Given the description of an element on the screen output the (x, y) to click on. 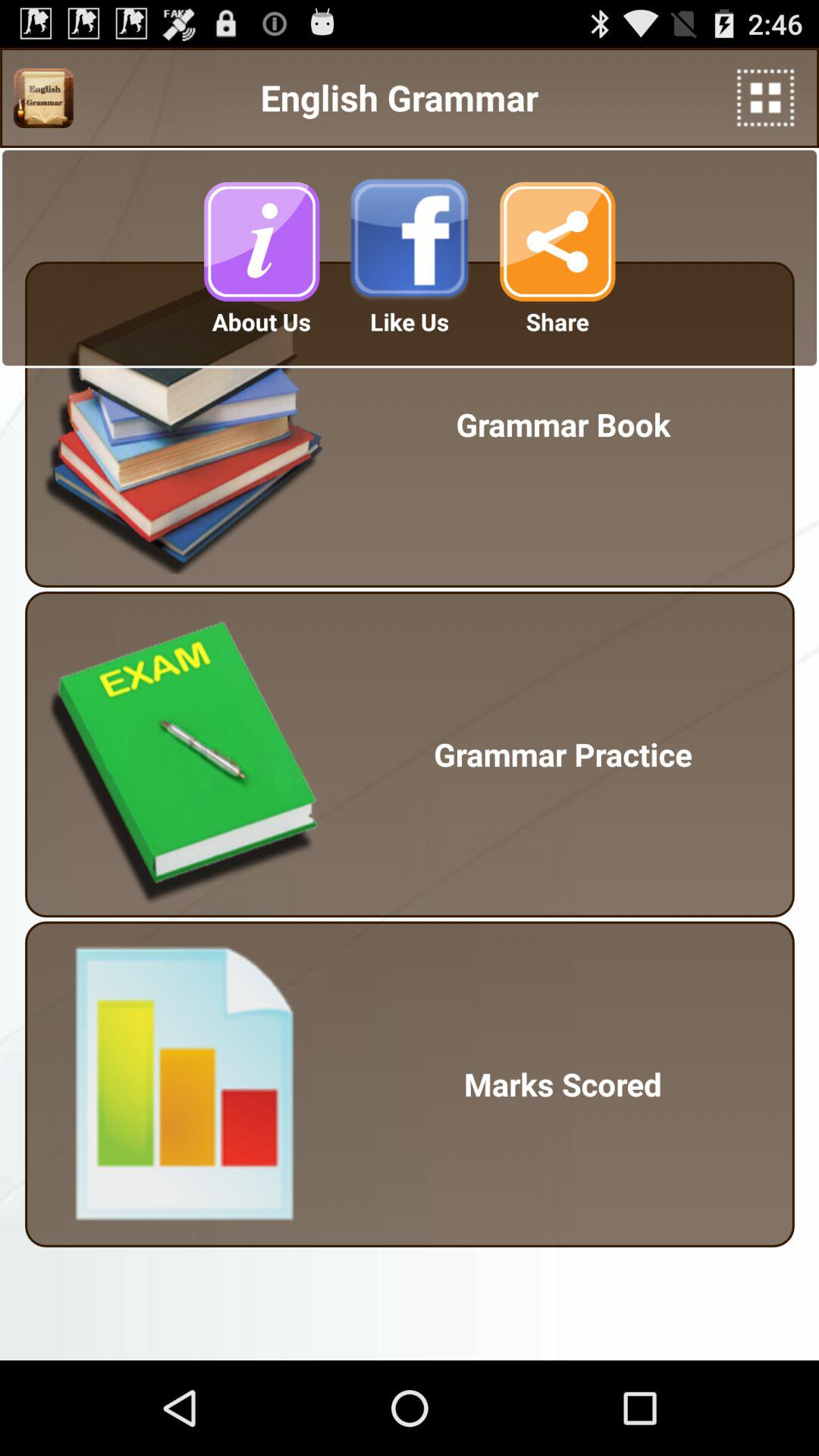
select the app above the about us app (261, 241)
